Given the description of an element on the screen output the (x, y) to click on. 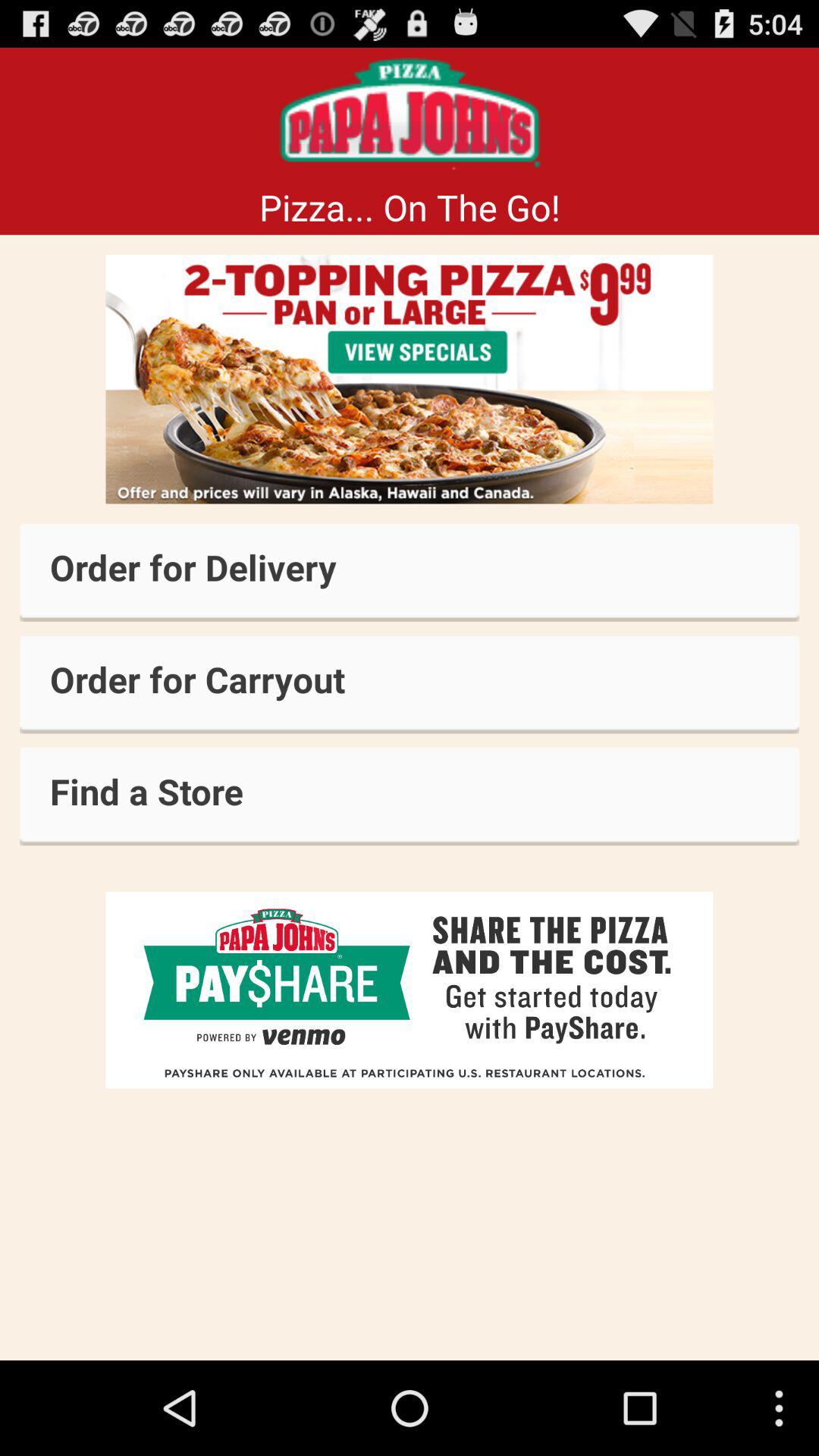
open the button below order for carryout (409, 796)
